Given the description of an element on the screen output the (x, y) to click on. 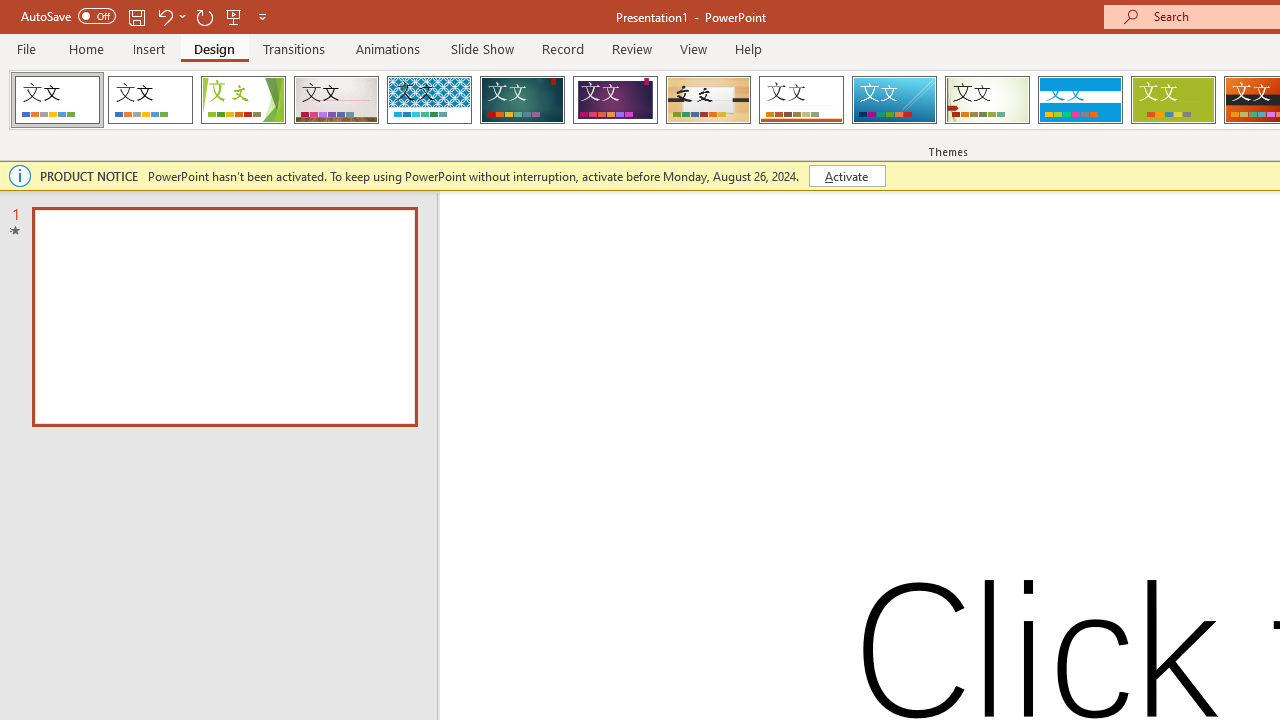
Facet (243, 100)
Activate (846, 175)
Office Theme (150, 100)
Organic (708, 100)
Slice (893, 100)
Banded (1080, 100)
